Given the description of an element on the screen output the (x, y) to click on. 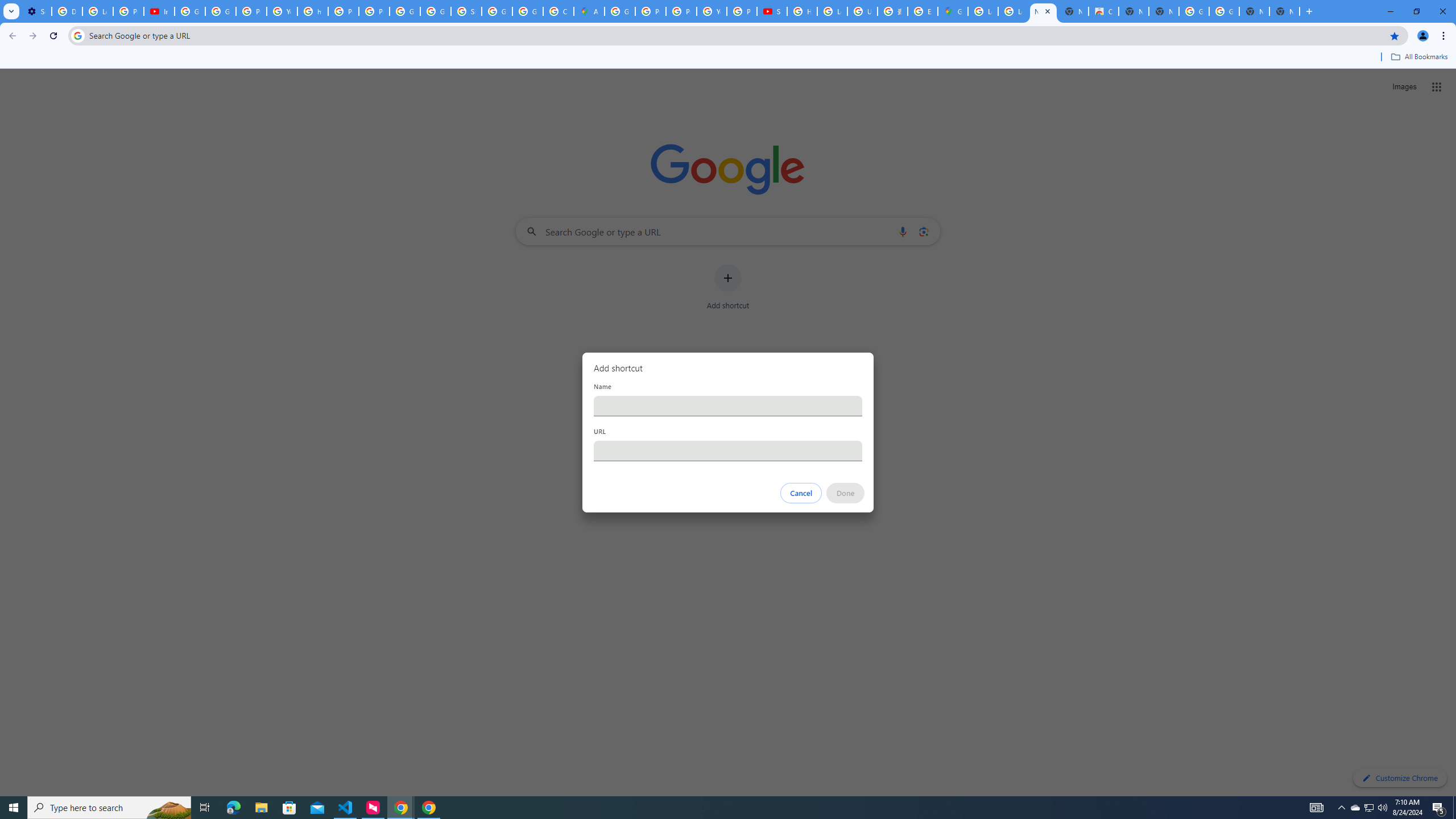
YouTube (282, 11)
URL (727, 450)
How Chrome protects your passwords - Google Chrome Help (801, 11)
Sign in - Google Accounts (465, 11)
All Bookmarks (1418, 56)
Google Account Help (189, 11)
